Given the description of an element on the screen output the (x, y) to click on. 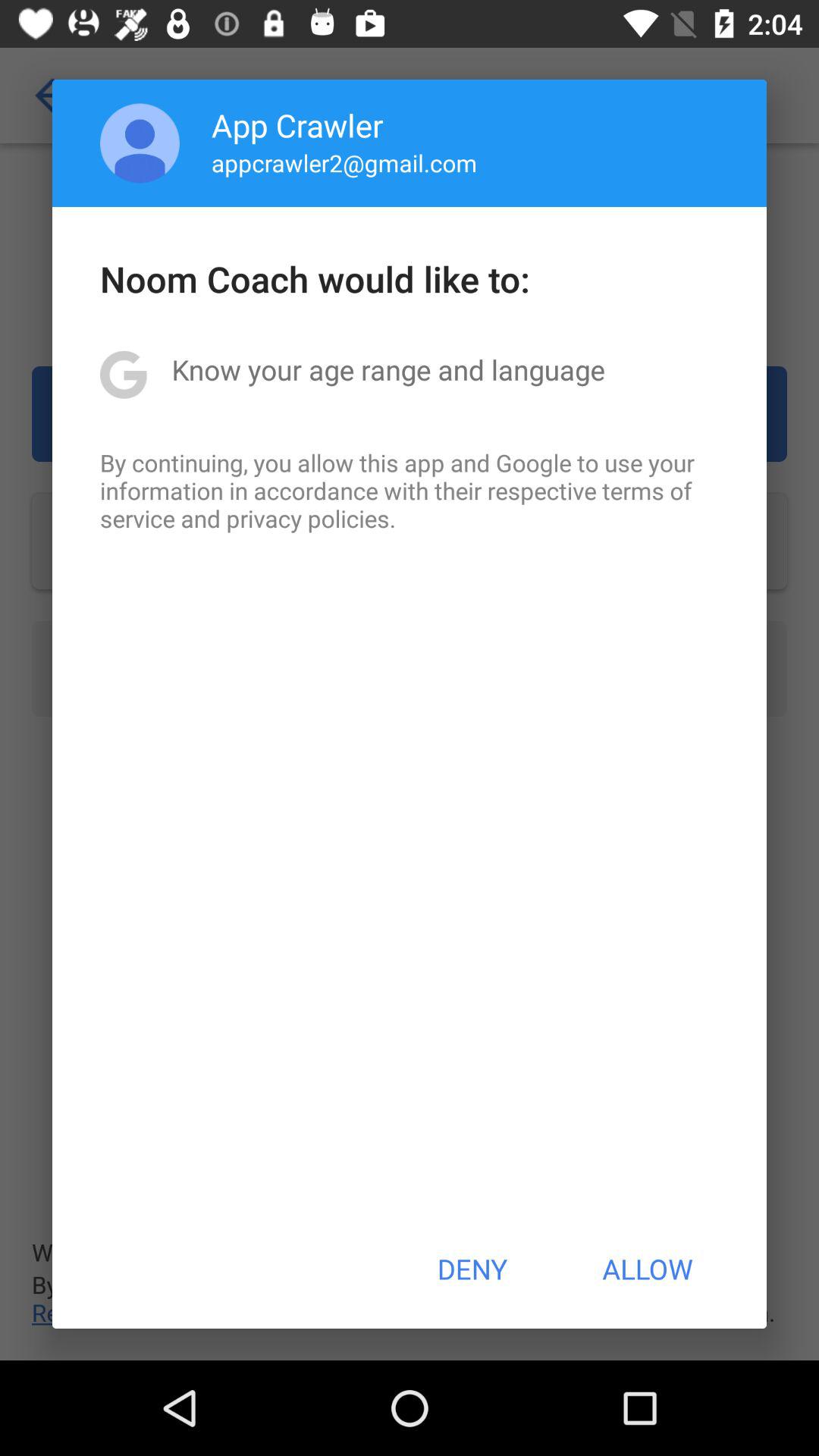
jump until appcrawler2@gmail.com (344, 162)
